Given the description of an element on the screen output the (x, y) to click on. 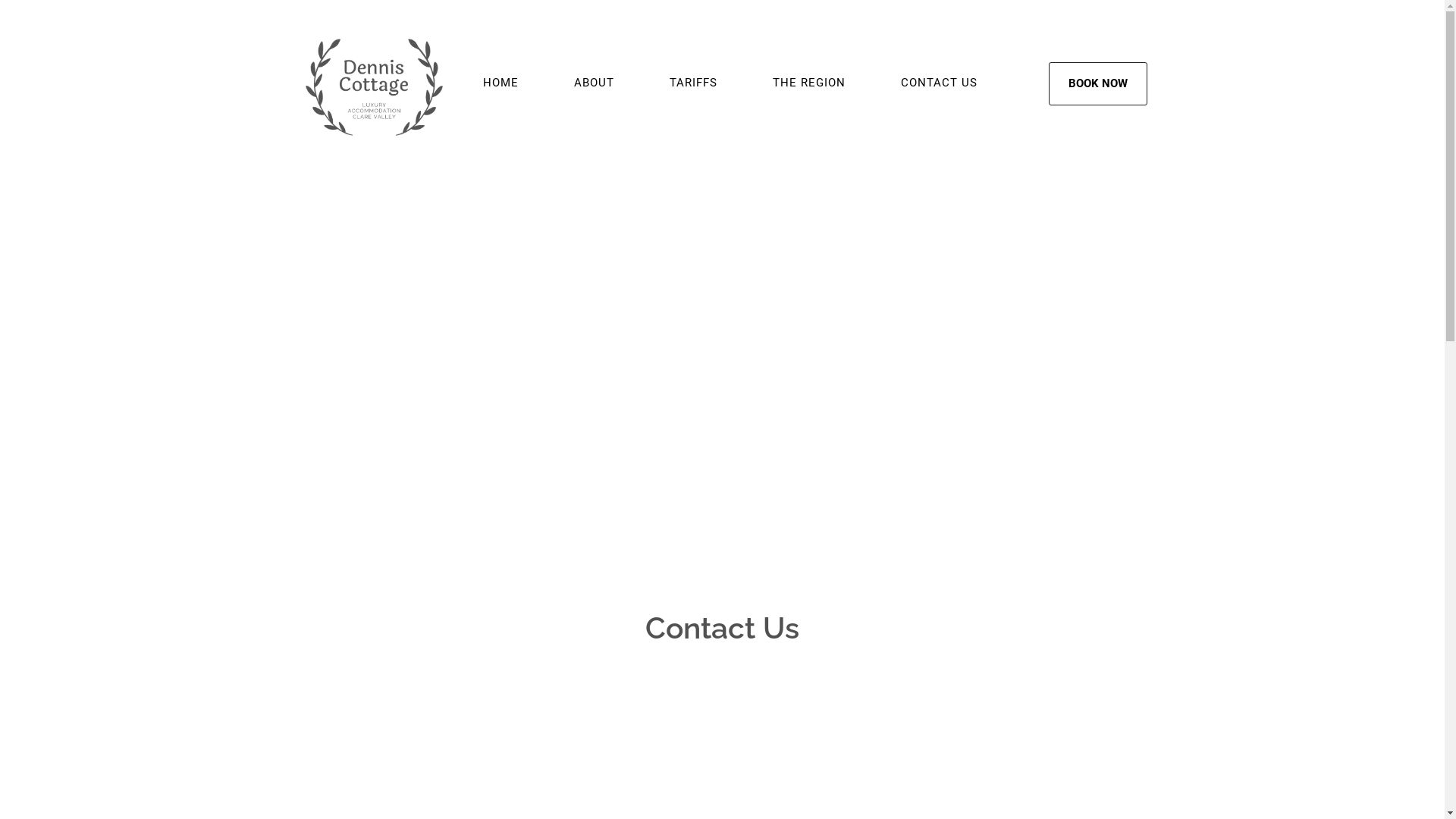
ABOUT Element type: text (594, 83)
CONTACT US Element type: text (938, 83)
BOOK NOW Element type: text (1097, 83)
HOME Element type: text (500, 83)
TARIFFS Element type: text (693, 83)
THE REGION Element type: text (808, 83)
